Given the description of an element on the screen output the (x, y) to click on. 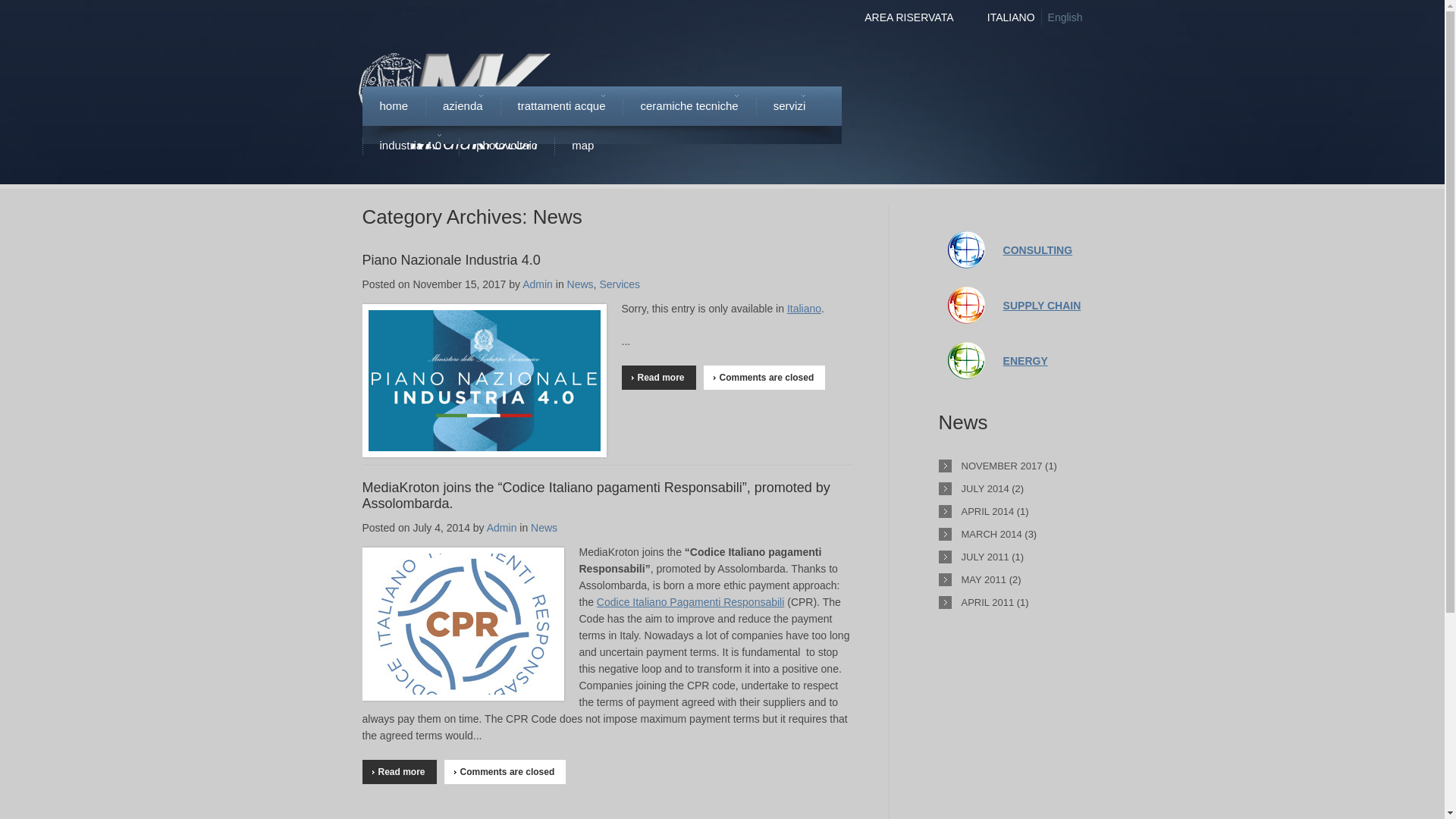
Consulting (966, 239)
Italiano (1011, 17)
Supply Chain (966, 295)
photovoltaic (506, 145)
Piano Nazionale Industria 4.0 (451, 259)
Piano Nazionale Industria 4.0 (451, 259)
Read more (658, 377)
Italiano (804, 308)
Energy (966, 349)
Supply Chain (1042, 304)
English (1065, 17)
ITALIANO (1011, 17)
English (1065, 17)
Posts by admin (537, 284)
News (580, 284)
